Given the description of an element on the screen output the (x, y) to click on. 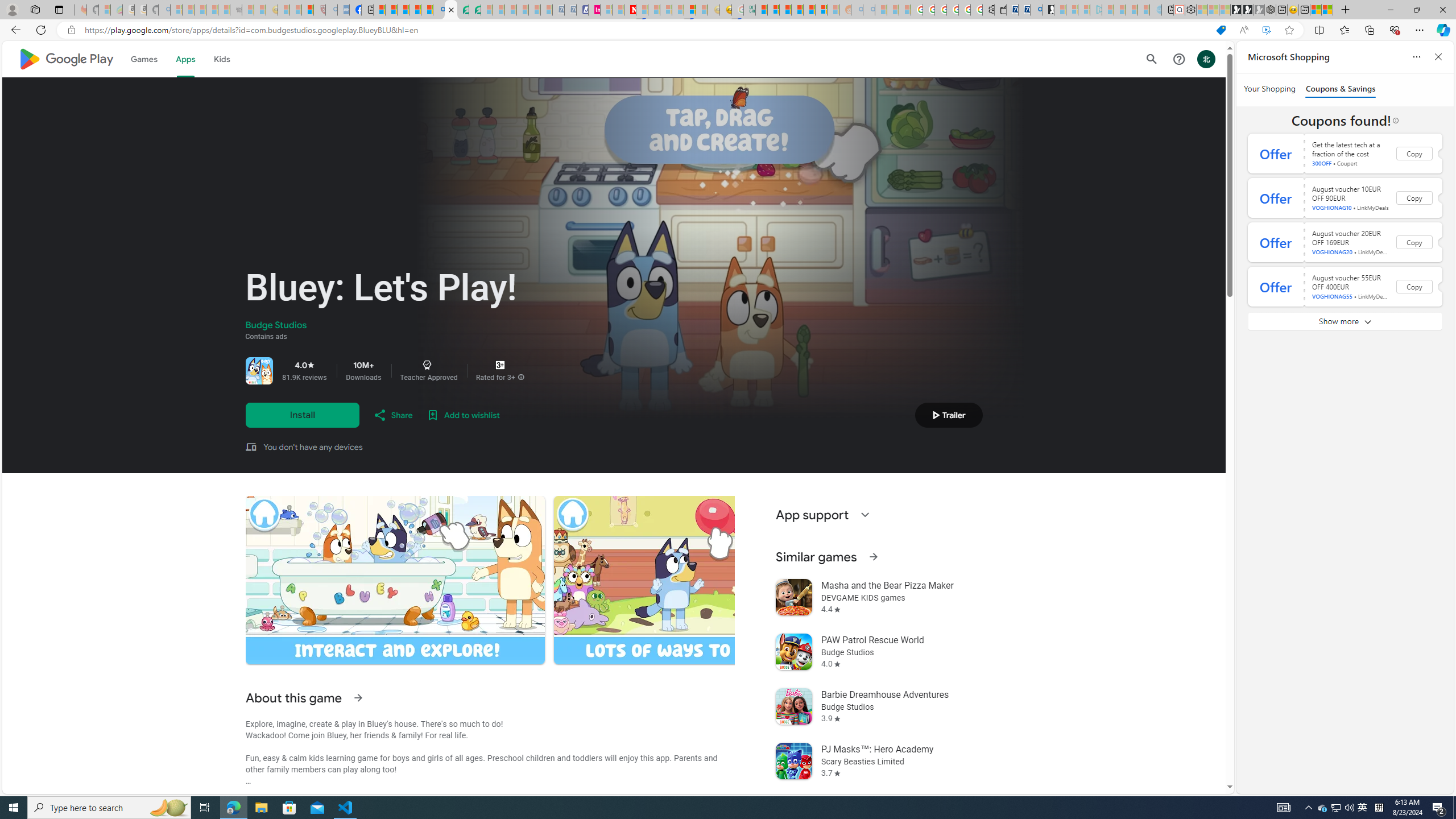
New Report Confirms 2023 Was Record Hot | Watch - Sleeping (223, 9)
Utah sues federal government - Search - Sleeping (868, 9)
Help Center (1178, 58)
Apps (185, 58)
Expand (864, 514)
